Given the description of an element on the screen output the (x, y) to click on. 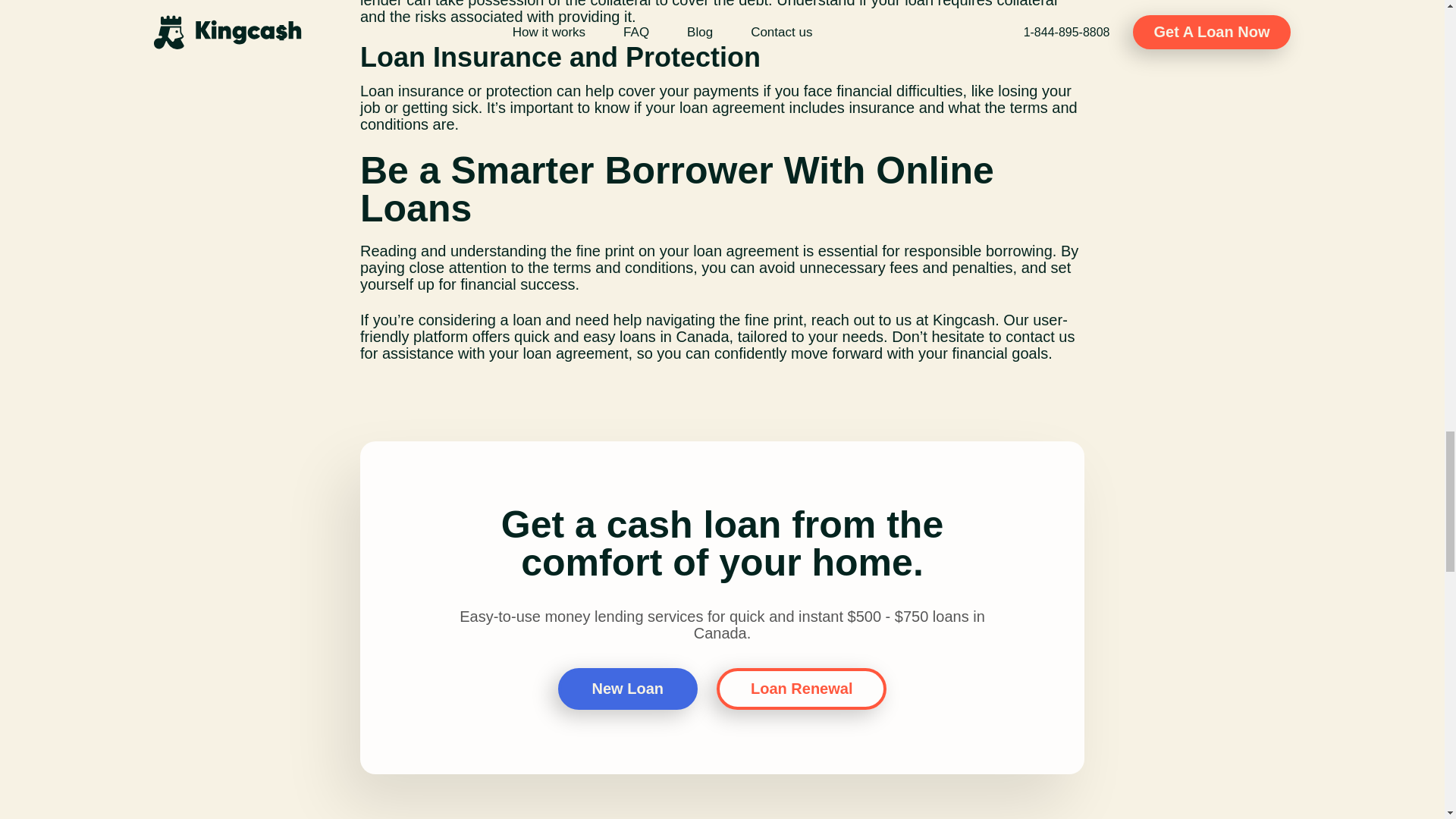
New Loan (627, 689)
Loan Renewal (801, 689)
